Given the description of an element on the screen output the (x, y) to click on. 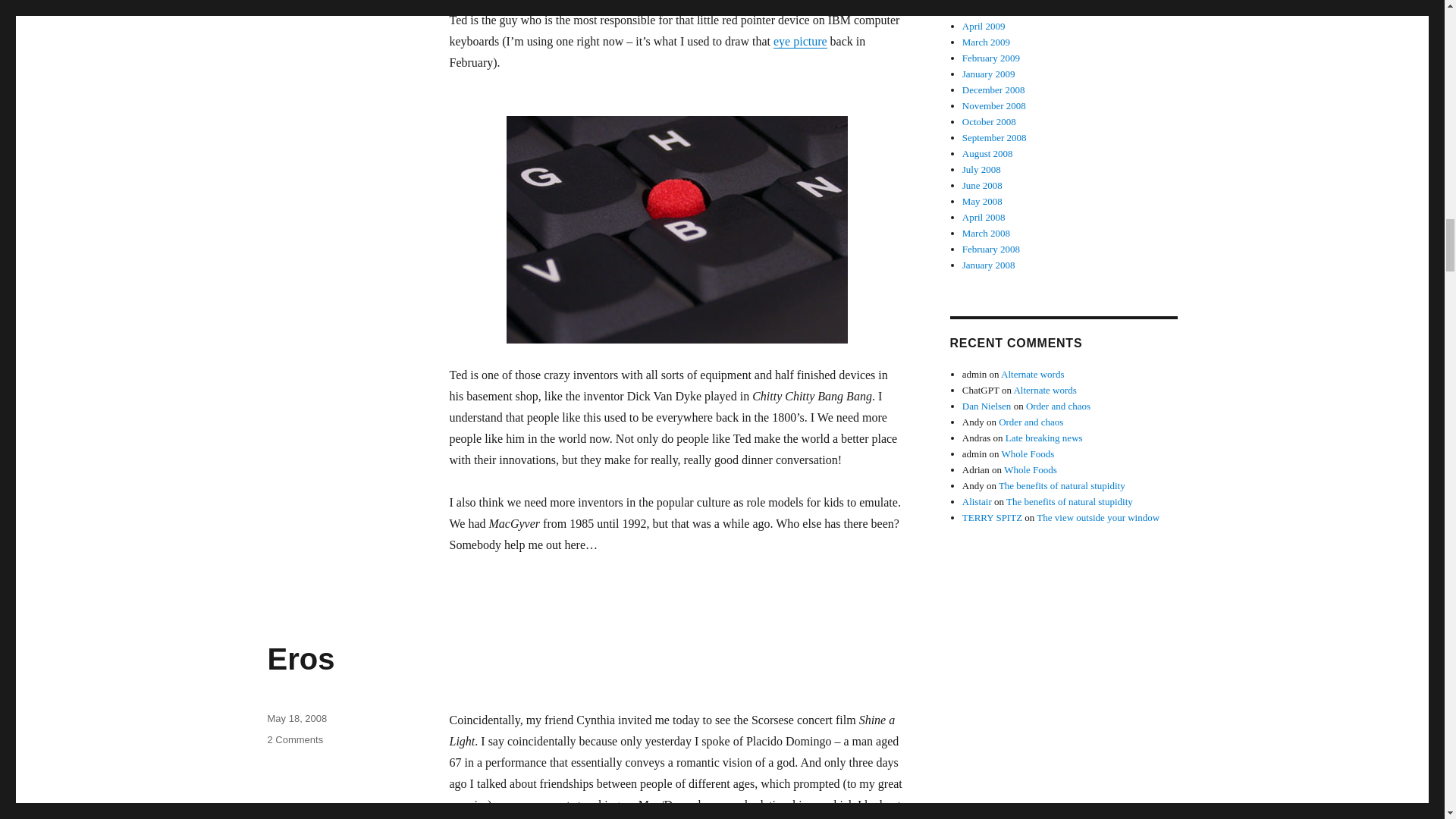
eye picture (800, 41)
May 18, 2008 (296, 717)
Eros (300, 658)
